Given the description of an element on the screen output the (x, y) to click on. 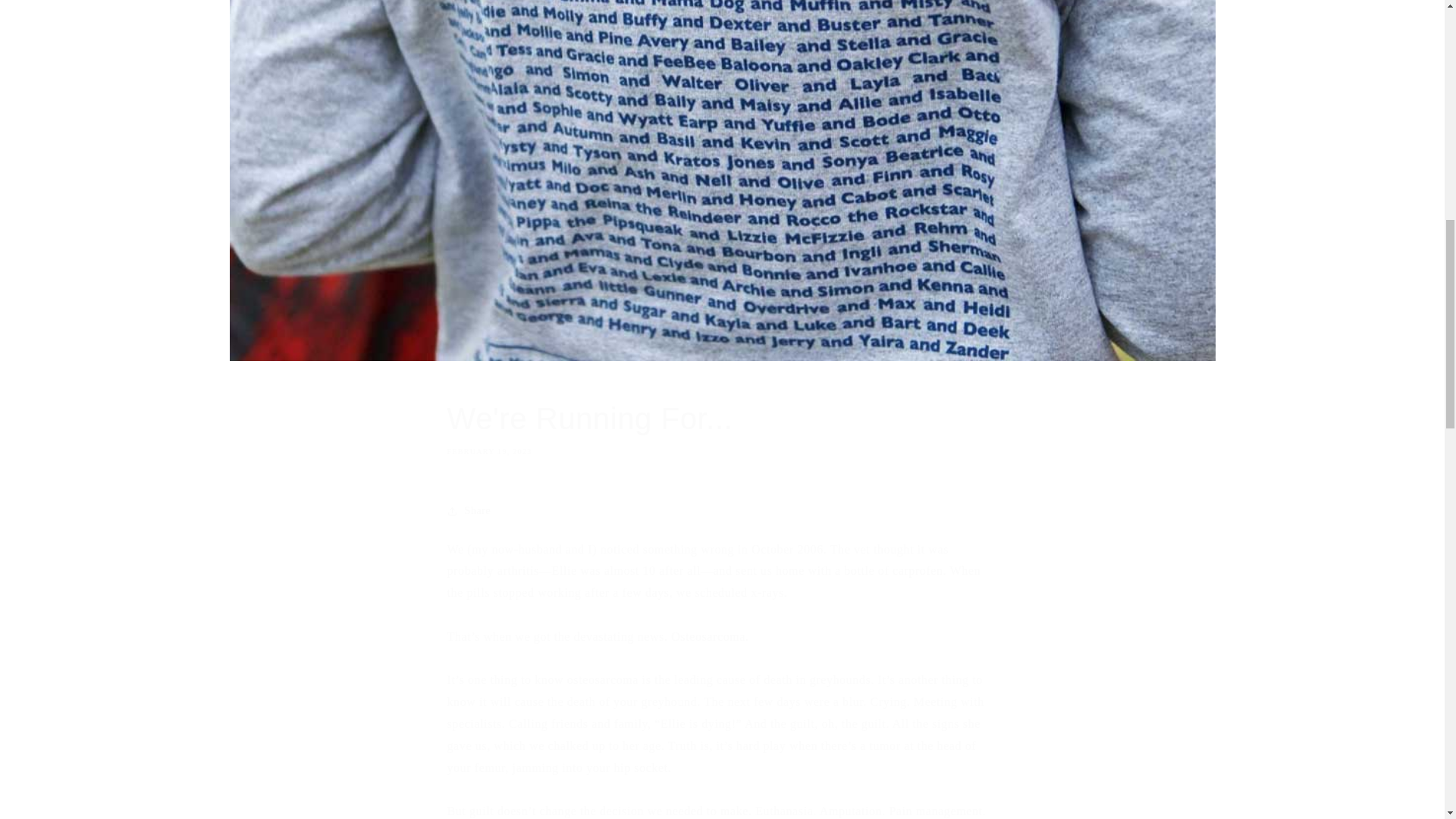
Share (721, 427)
